Given the description of an element on the screen output the (x, y) to click on. 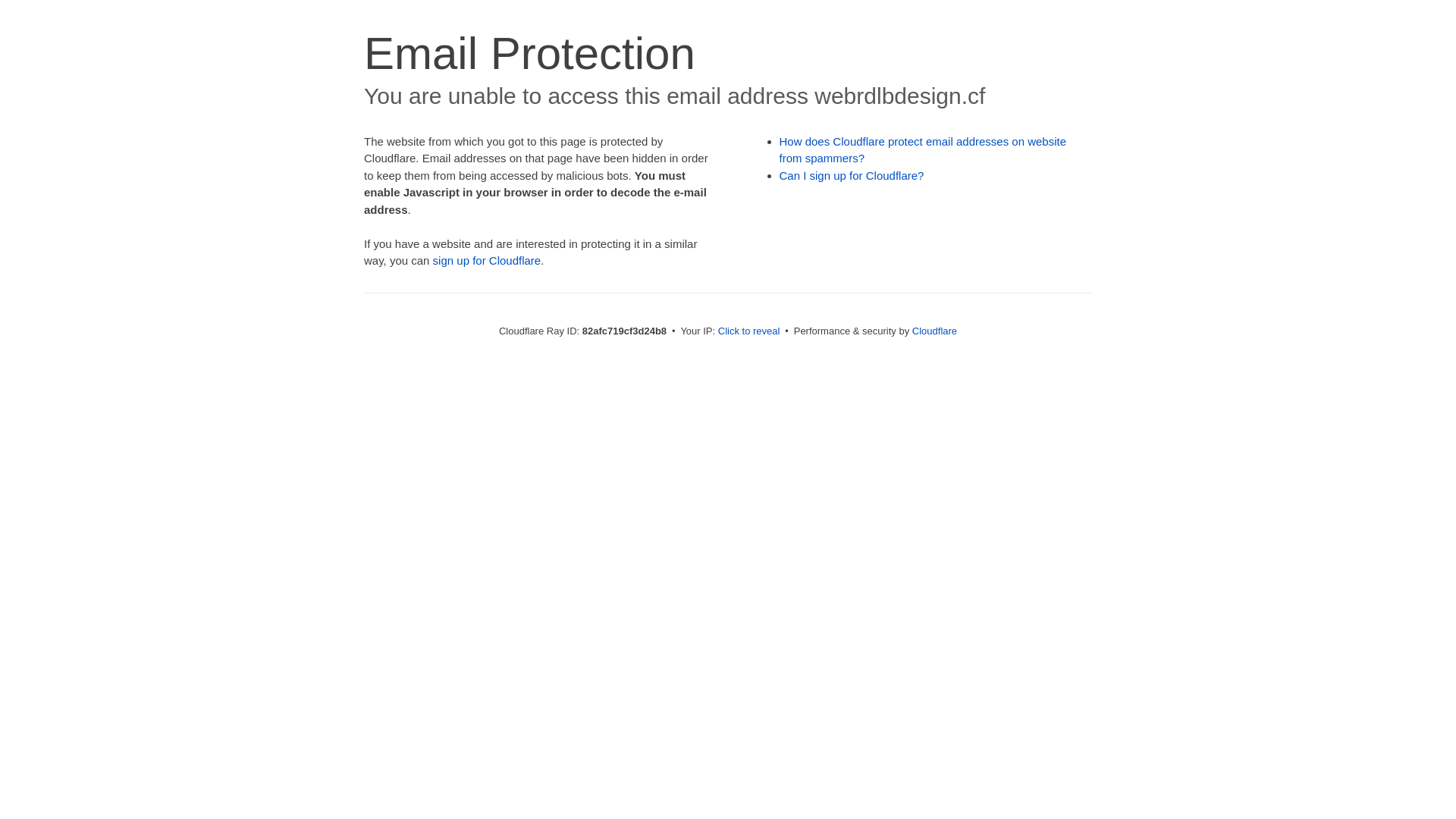
Click to reveal Element type: text (749, 330)
Cloudflare Element type: text (934, 330)
sign up for Cloudflare Element type: text (487, 260)
Can I sign up for Cloudflare? Element type: text (851, 175)
